Given the description of an element on the screen output the (x, y) to click on. 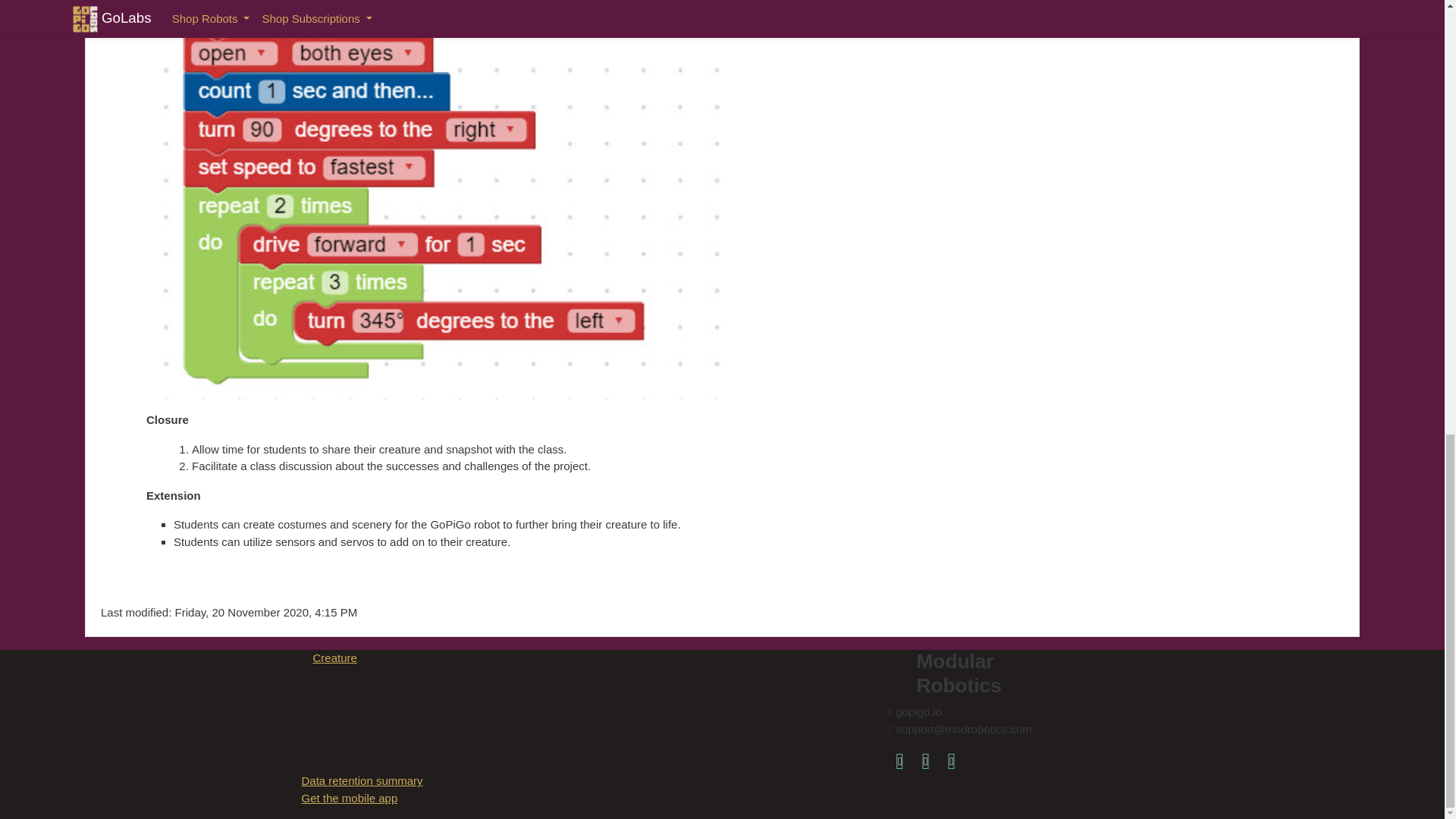
Data retention summary (362, 780)
gopigo.io (951, 759)
Get the mobile app (349, 797)
gopigo.io (951, 759)
Creature (334, 657)
